Given the description of an element on the screen output the (x, y) to click on. 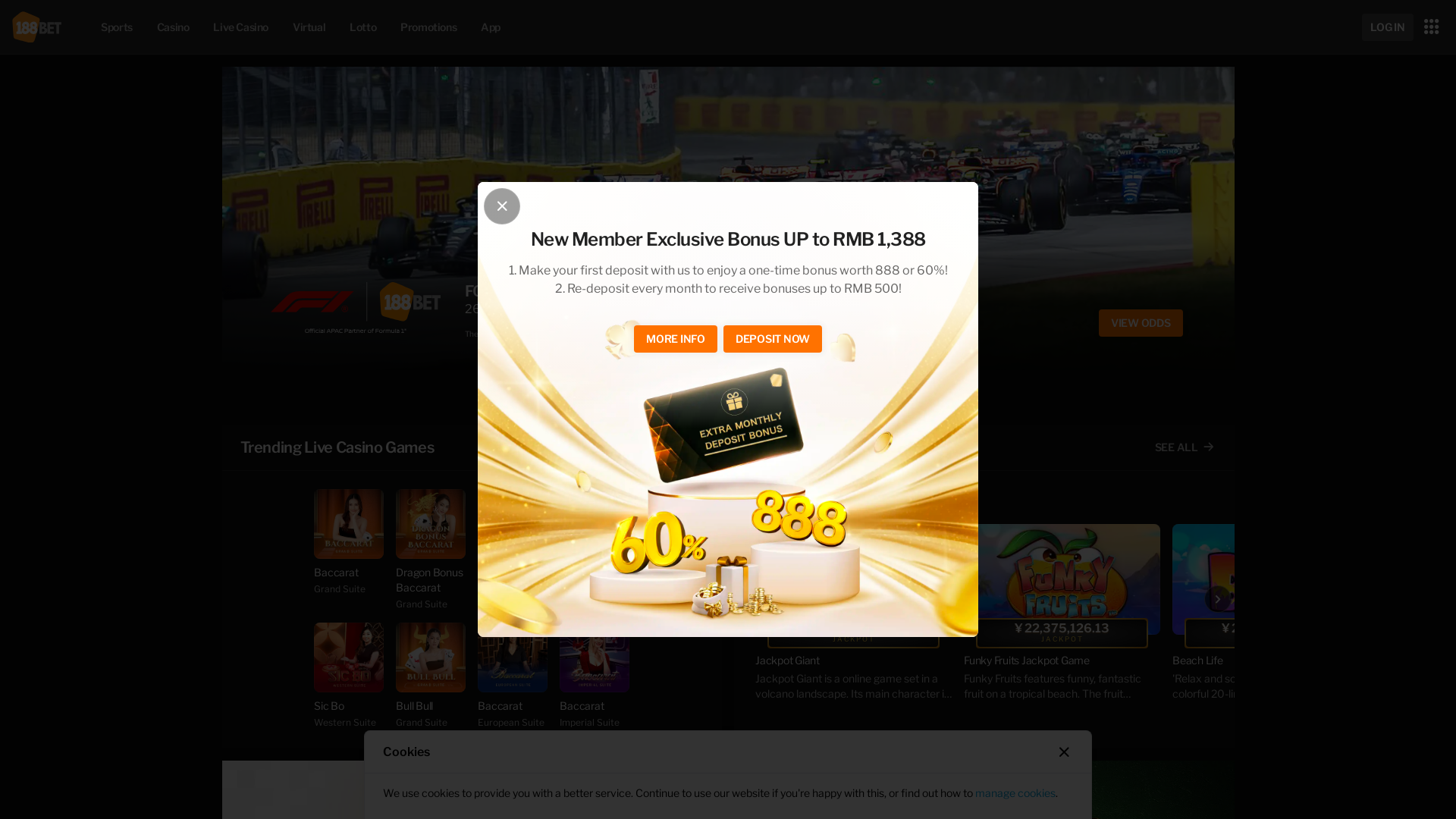
Virtual Element type: text (308, 26)
Promotions Element type: text (428, 26)
Baccarat Element type: hover (348, 523)
manage cookies Element type: text (1015, 792)
SEE ALL Element type: text (671, 447)
Baccarat Element type: hover (594, 523)
Beach Life Element type: hover (1270, 579)
Dragon Bonus Baccarat Element type: hover (430, 523)
LOG IN Element type: text (1387, 26)
Baccarat Element type: hover (512, 657)
Lotto Element type: text (362, 26)
DEPOSIT NOW Element type: text (772, 338)
Sic Bo Element type: hover (348, 657)
VIEW ODDS Element type: text (1140, 328)
SEE ALL Element type: text (1184, 447)
Baccarat Element type: hover (594, 657)
Jackpot Giant Element type: hover (853, 579)
Jackpot Giant Element type: text (853, 660)
Biggest jackpot Element type: text (805, 447)
Funky Fruits Jackpot Game Element type: hover (1061, 579)
Beach Life Element type: text (1270, 660)
Multi Table Baccarat Element type: hover (512, 523)
Funky Fruits Jackpot Game Element type: text (1061, 660)
Live Casino Element type: text (240, 26)
App Element type: text (490, 26)
Bull Bull Element type: hover (430, 657)
Casino Element type: text (172, 26)
MORE INFO Element type: text (675, 338)
Sports Element type: text (116, 26)
